Given the description of an element on the screen output the (x, y) to click on. 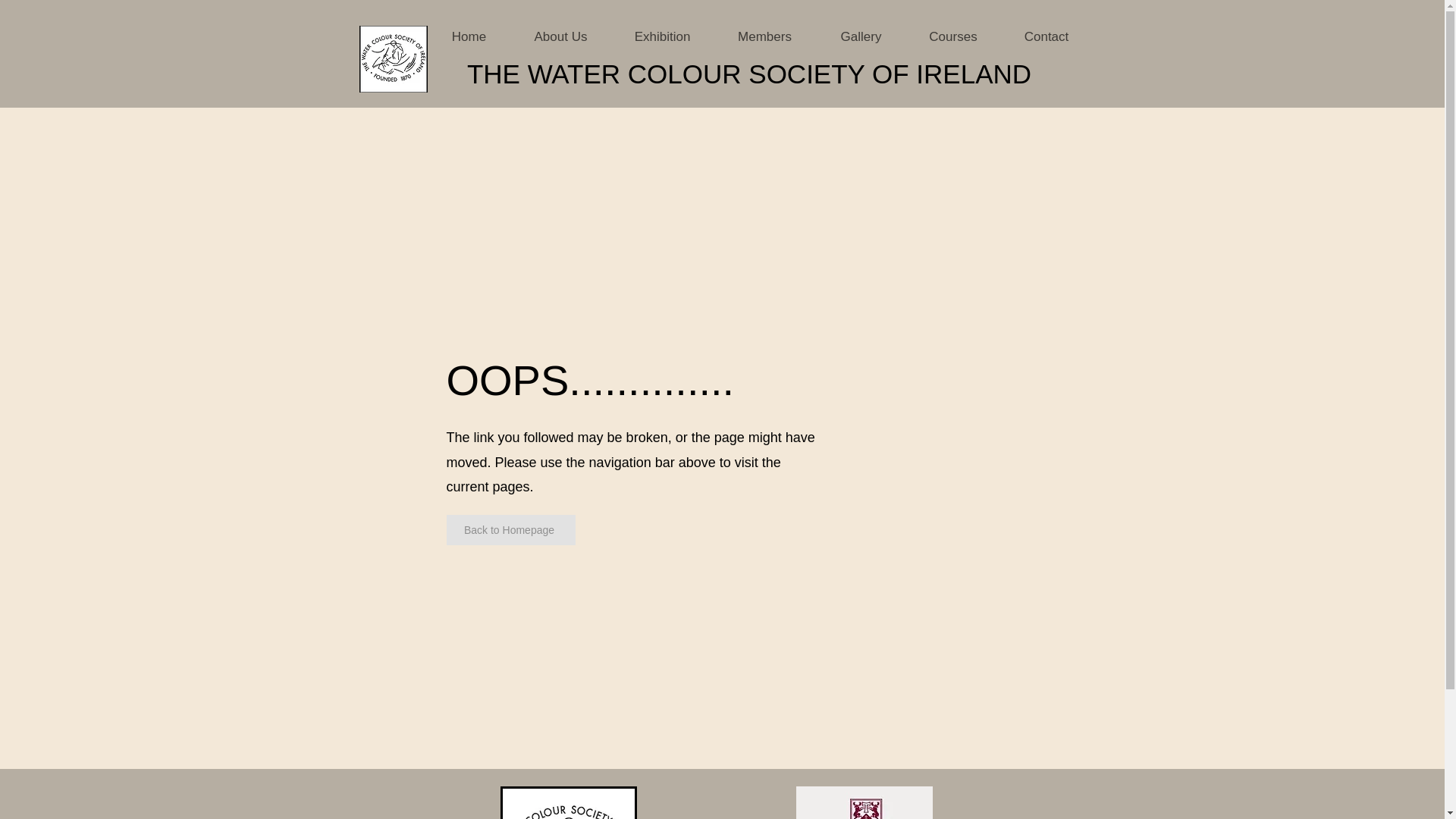
Exhibition (662, 37)
About Us (561, 37)
Gallery (861, 37)
Back to Homepage (510, 530)
Contact (1045, 37)
Members (764, 37)
Courses (953, 37)
Home (469, 37)
